Given the description of an element on the screen output the (x, y) to click on. 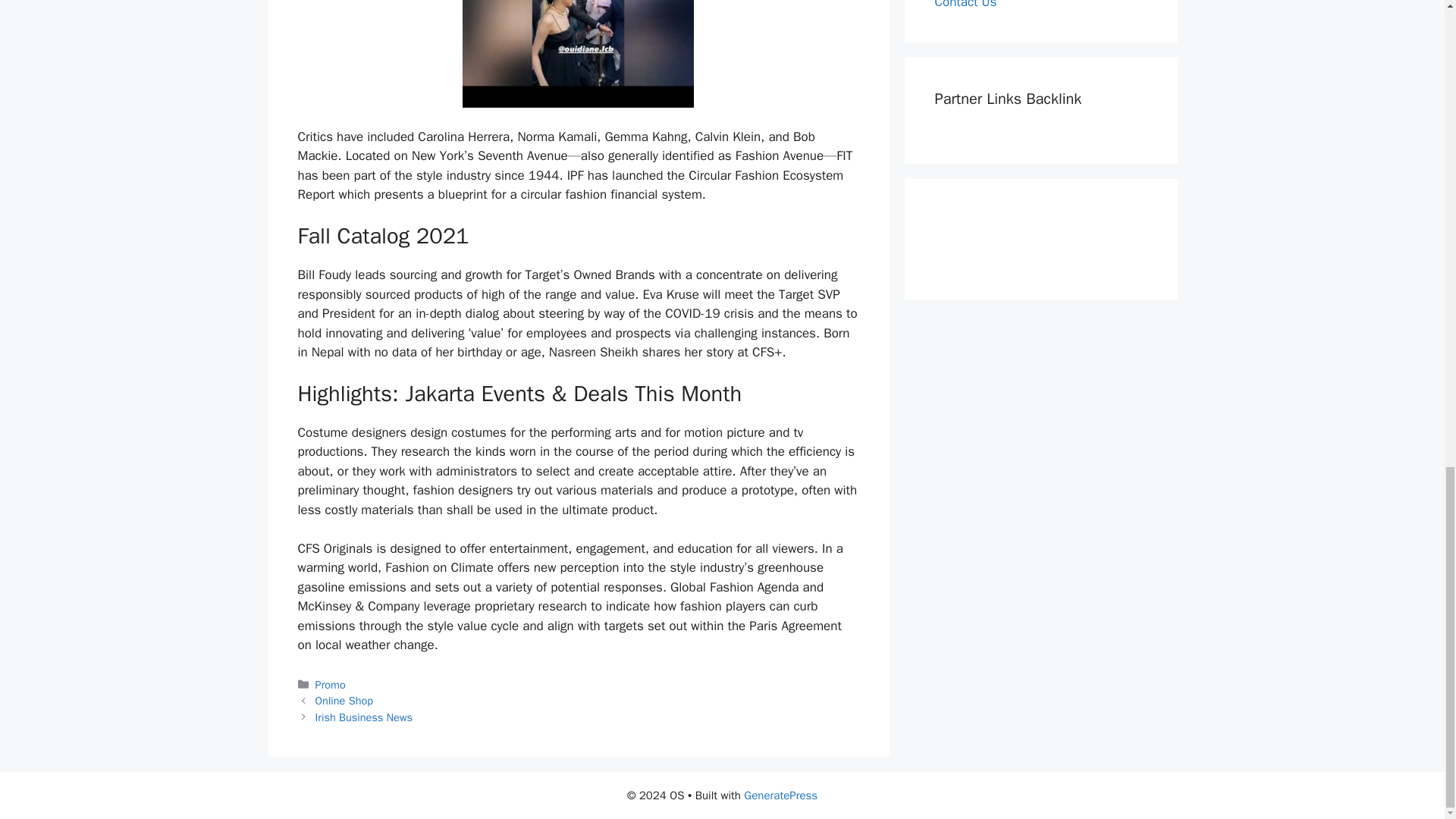
Promo (330, 684)
Online Shop (343, 700)
Irish Business News (363, 716)
